Given the description of an element on the screen output the (x, y) to click on. 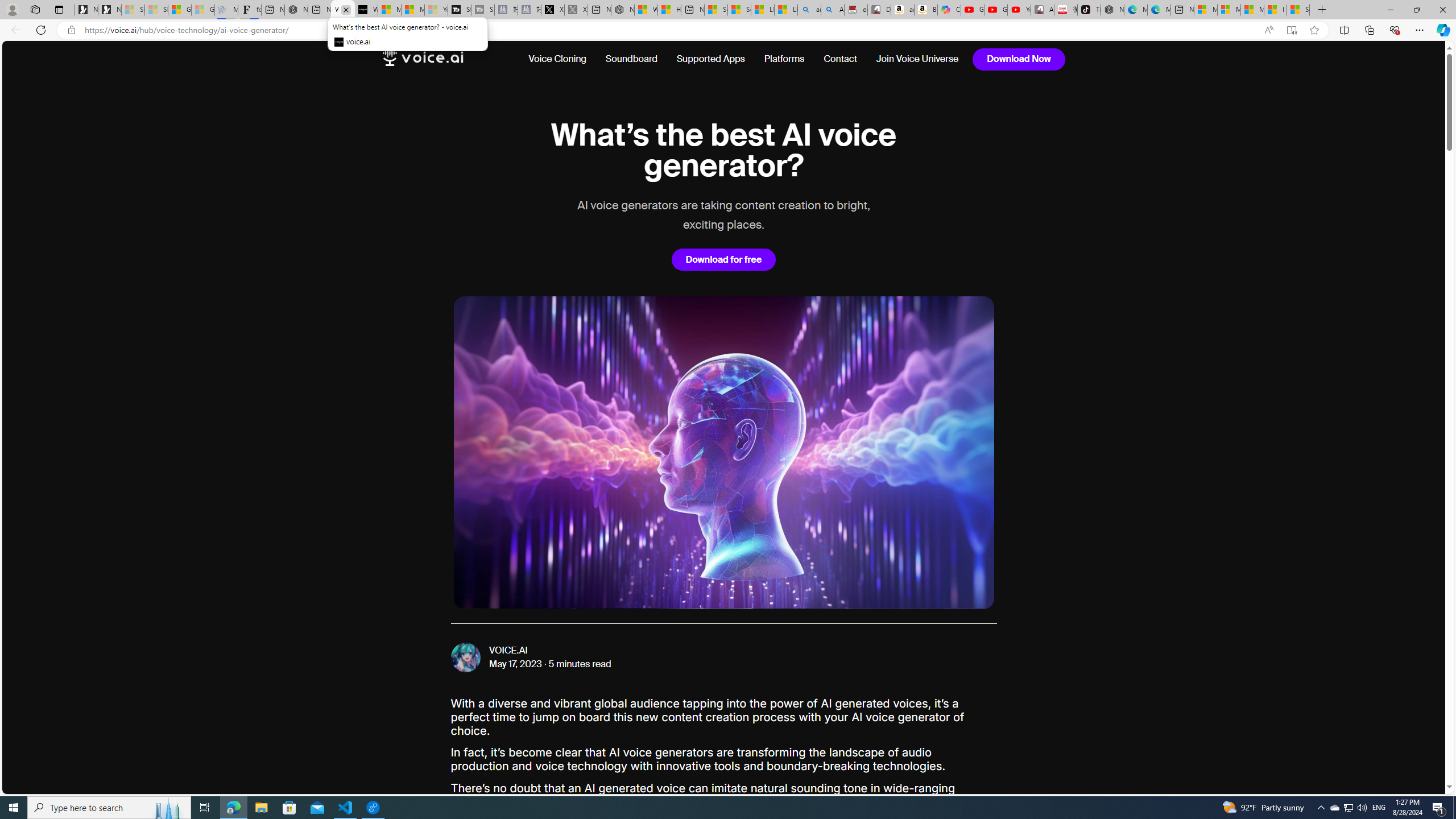
Enter Immersive Reader (F9) (1291, 29)
